Given the description of an element on the screen output the (x, y) to click on. 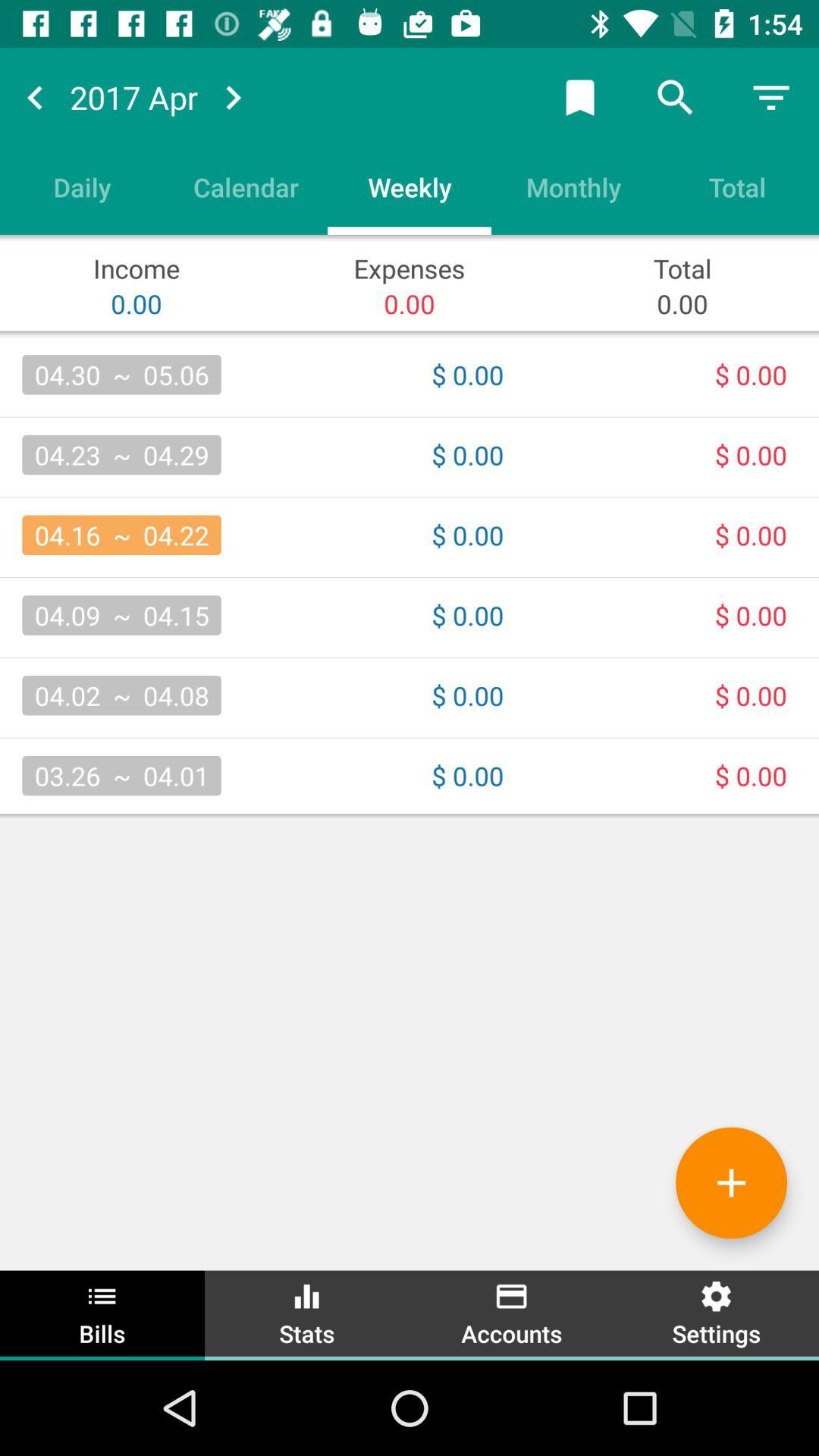
press icon to the left of calendar item (81, 186)
